Given the description of an element on the screen output the (x, y) to click on. 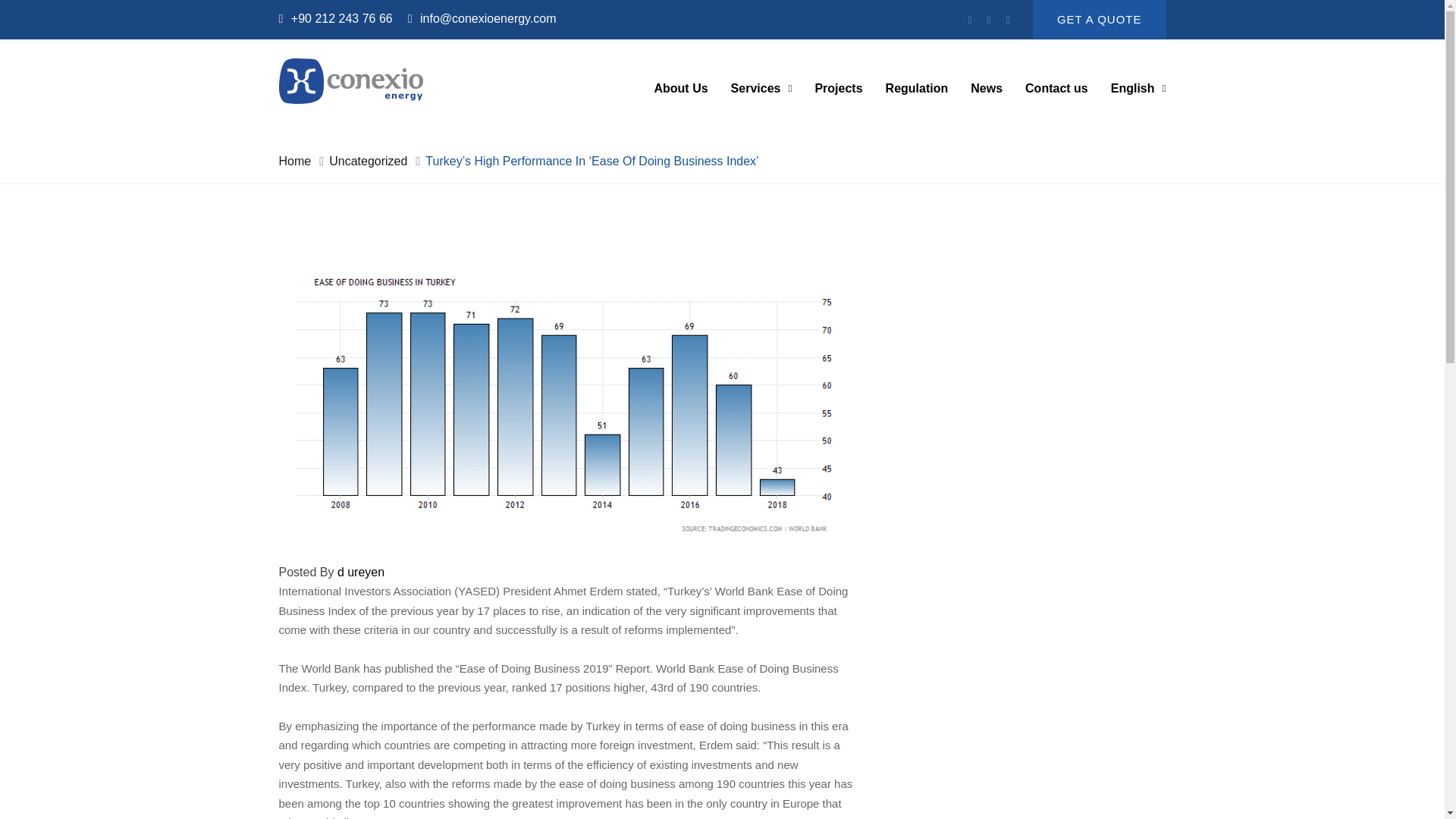
Contact us (1056, 88)
GET A QUOTE (1099, 19)
Regulation (917, 88)
Contact us (1056, 88)
Uncategorized (368, 160)
English (1138, 88)
Services (761, 88)
Arctica (351, 81)
Services (761, 88)
Regulation (917, 88)
Home (295, 160)
